Given the description of an element on the screen output the (x, y) to click on. 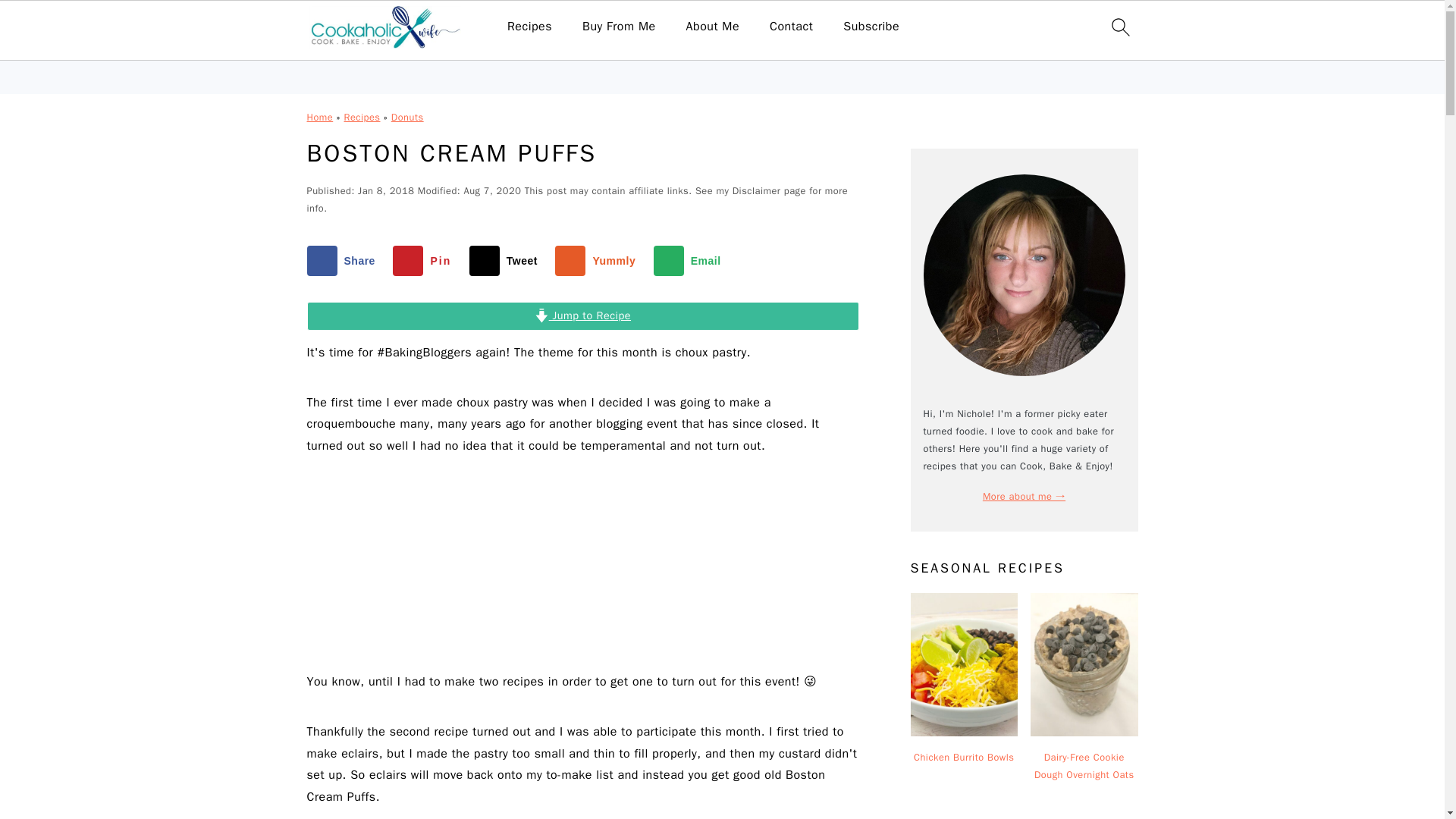
Subscribe (871, 26)
Contact (791, 26)
Share on Yummly (598, 260)
Buy From Me (619, 26)
Share on X (506, 260)
Send over email (690, 260)
Jump to Recipe (582, 316)
Recipes (528, 26)
Save to Pinterest (425, 260)
search icon (1119, 26)
About Me (712, 26)
Share on Facebook (343, 260)
